Given the description of an element on the screen output the (x, y) to click on. 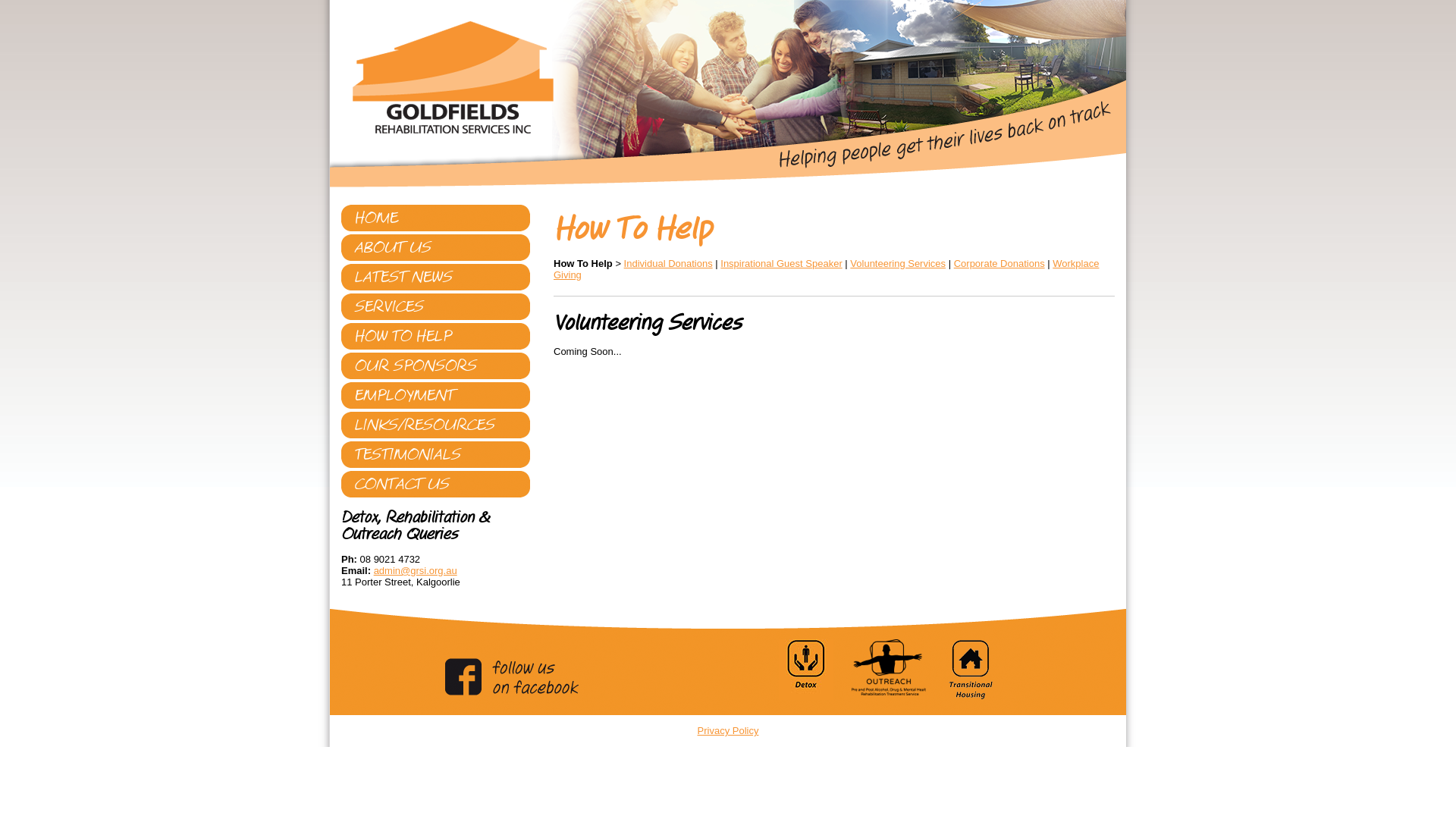
Workplace Giving Element type: text (825, 268)
CONTACT US Element type: text (435, 483)
SERVICES Element type: text (435, 306)
Inspirational Guest Speaker Element type: text (780, 263)
Privacy Policy Element type: text (728, 730)
ABOUT US Element type: text (435, 247)
HOME Element type: text (435, 217)
HOW TO HELP Element type: text (435, 336)
admin@grsi.org.au Element type: text (415, 570)
LATEST NEWS Element type: text (435, 276)
Corporate Donations Element type: text (998, 263)
TESTIMONIALS Element type: text (435, 454)
Individual Donations Element type: text (668, 263)
Volunteering Services Element type: text (897, 263)
LINKS/RESOURCES Element type: text (435, 424)
OUR SPONSORS Element type: text (435, 365)
EMPLOYMENT Element type: text (435, 395)
